Given the description of an element on the screen output the (x, y) to click on. 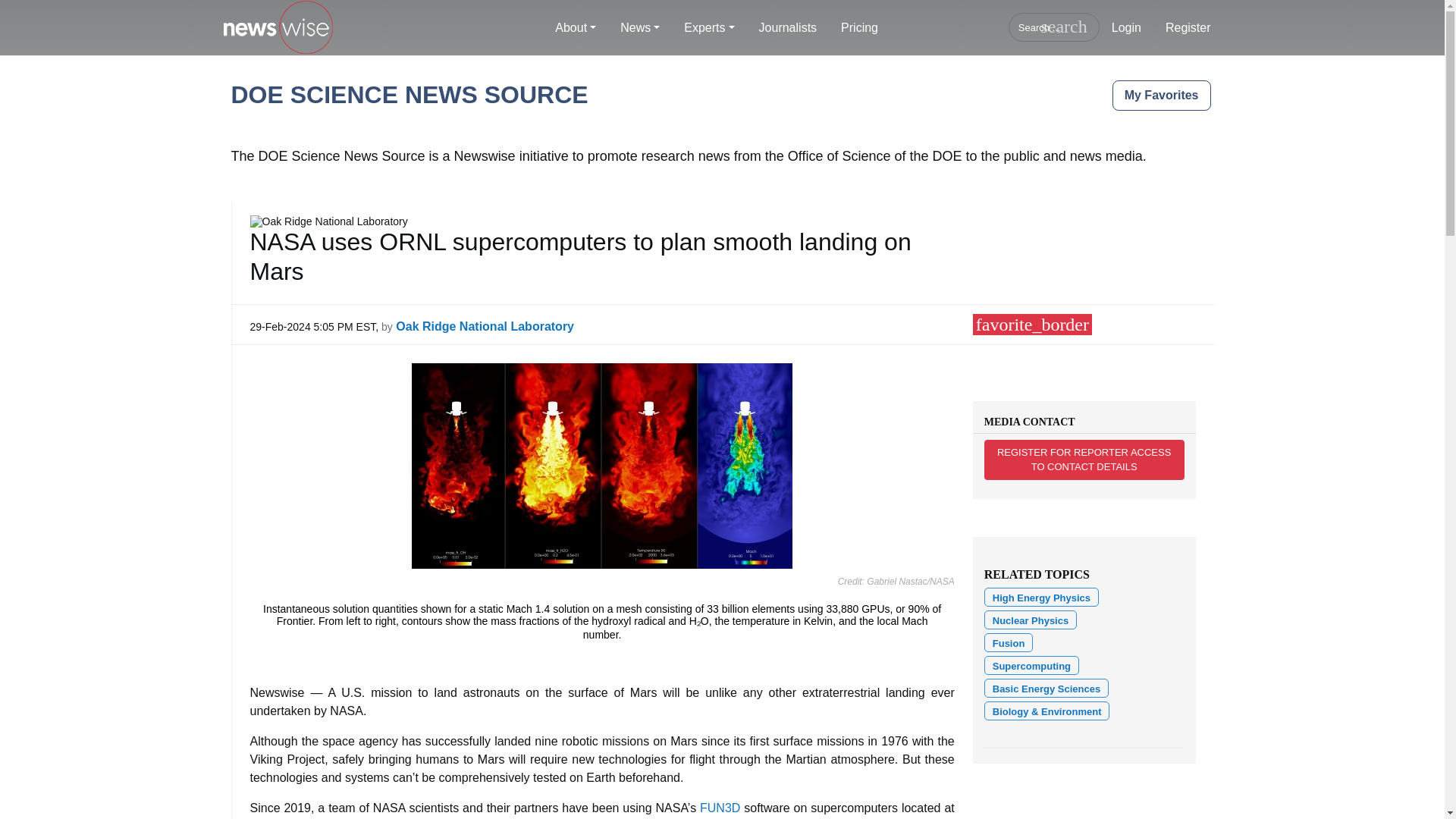
News (639, 27)
About (575, 27)
Add to Favorites (1032, 323)
Newswise logo (277, 28)
View full image (602, 464)
